Given the description of an element on the screen output the (x, y) to click on. 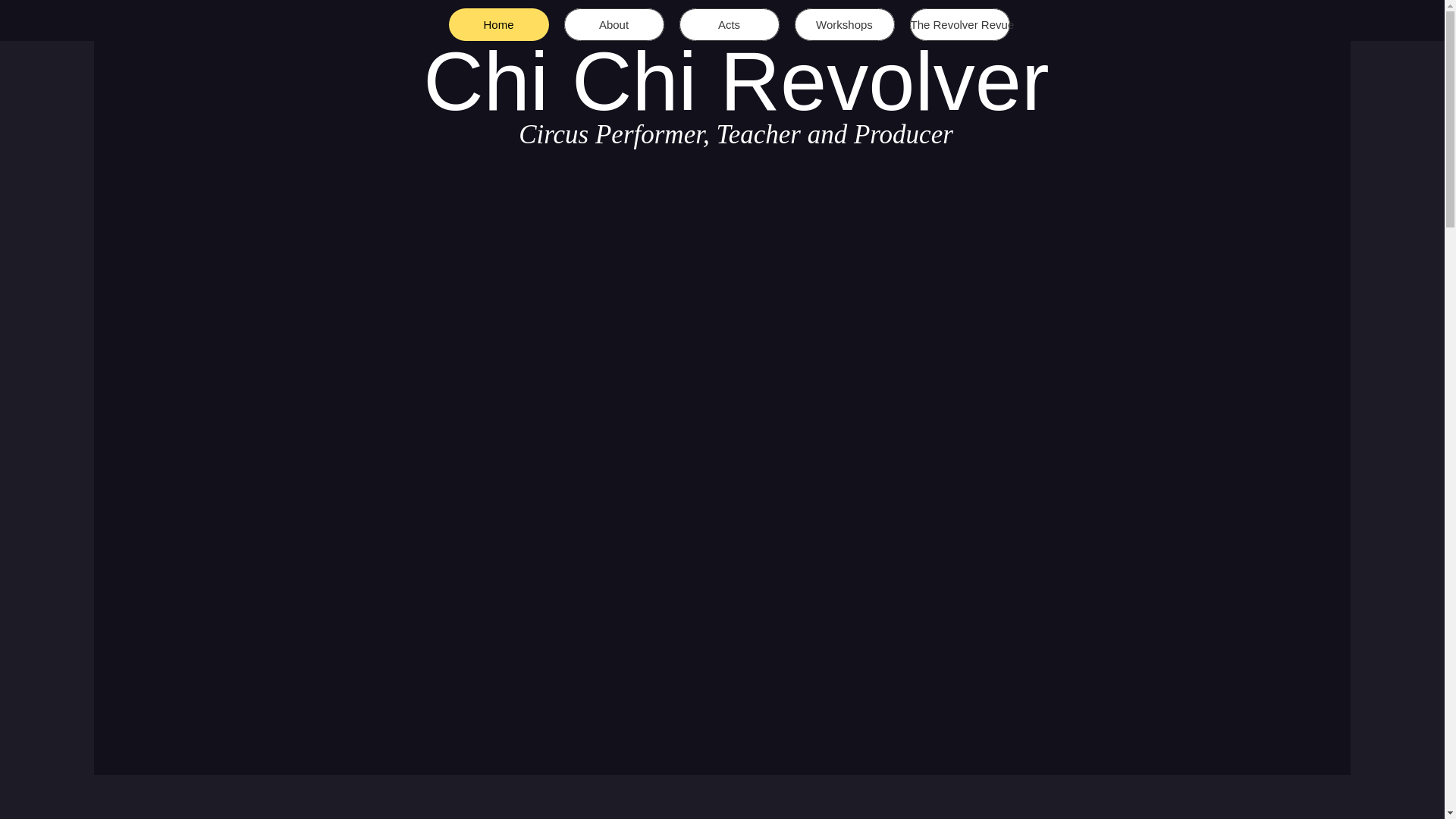
Home (498, 24)
Acts (728, 24)
Workshops (844, 24)
About (613, 24)
The Revolver Revue (960, 24)
